Given the description of an element on the screen output the (x, y) to click on. 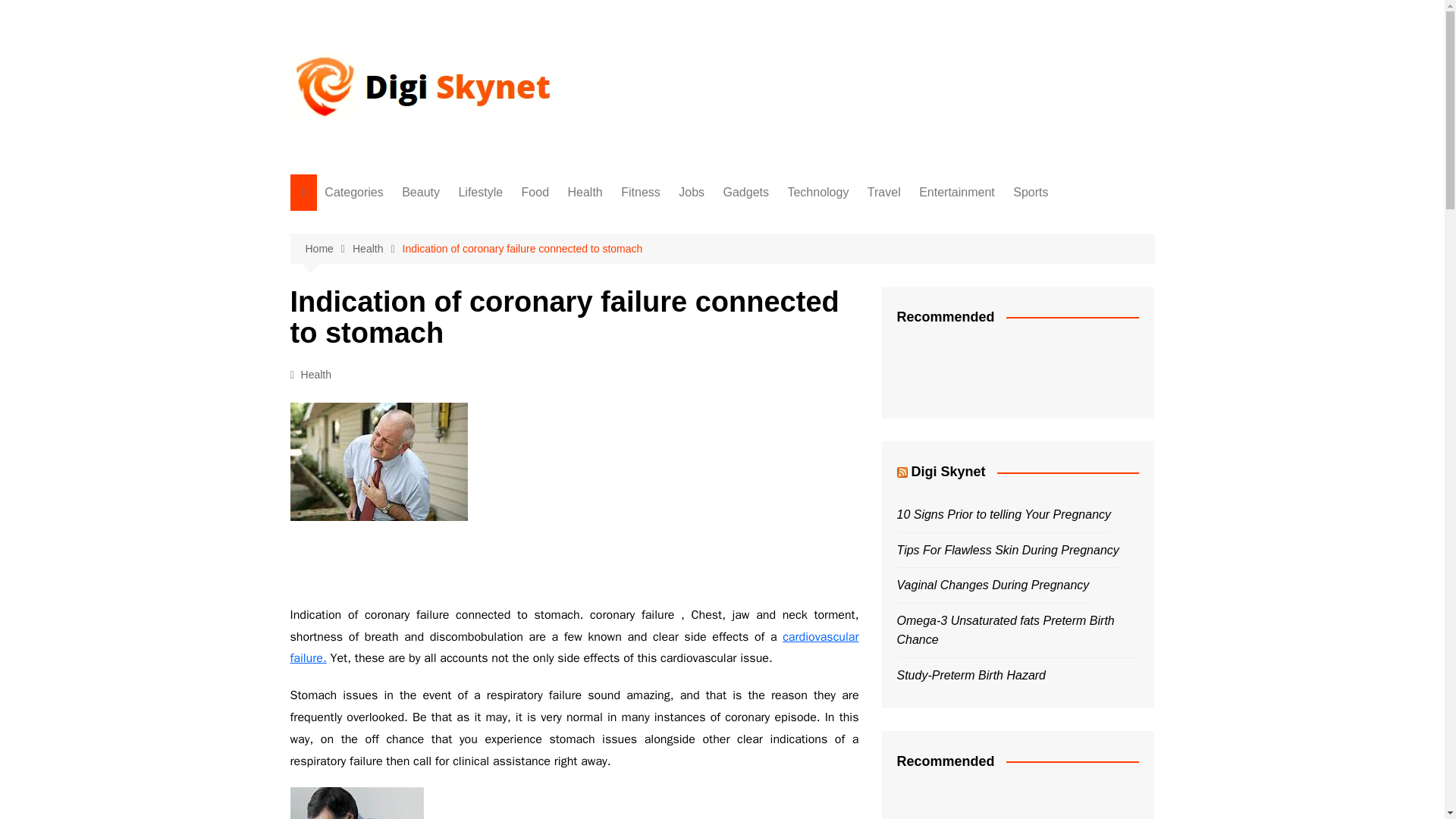
Travel (884, 192)
Jobs (691, 192)
Beauty (400, 222)
Entertainment (957, 192)
Health (316, 374)
Sports (1030, 192)
Health (585, 192)
Travel (400, 448)
Lifestyle (400, 248)
Technology (400, 423)
